Given the description of an element on the screen output the (x, y) to click on. 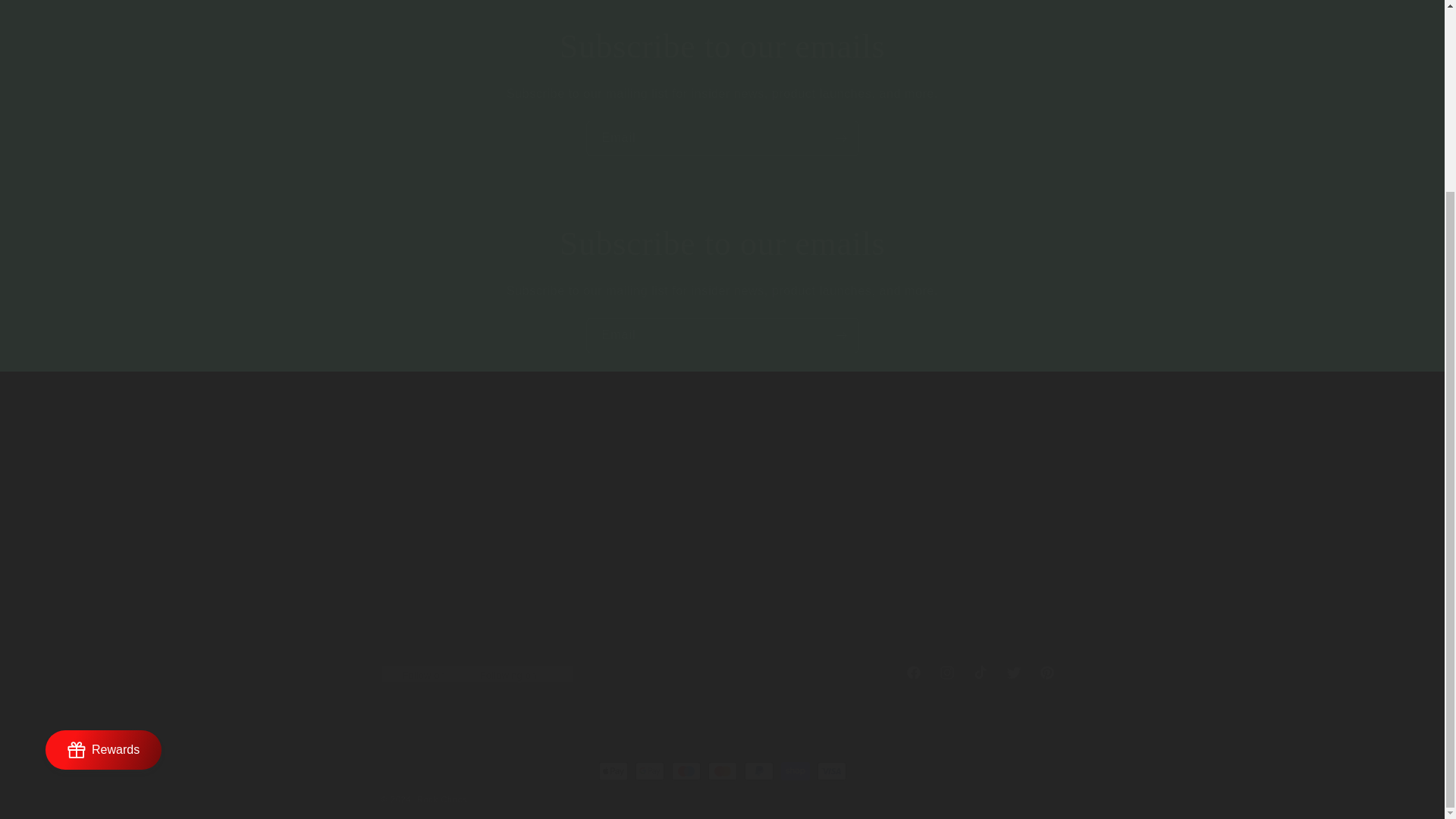
Subscribe to our emails (721, 672)
Subscribe to our emails (721, 243)
Email (721, 46)
Email (722, 334)
